Given the description of an element on the screen output the (x, y) to click on. 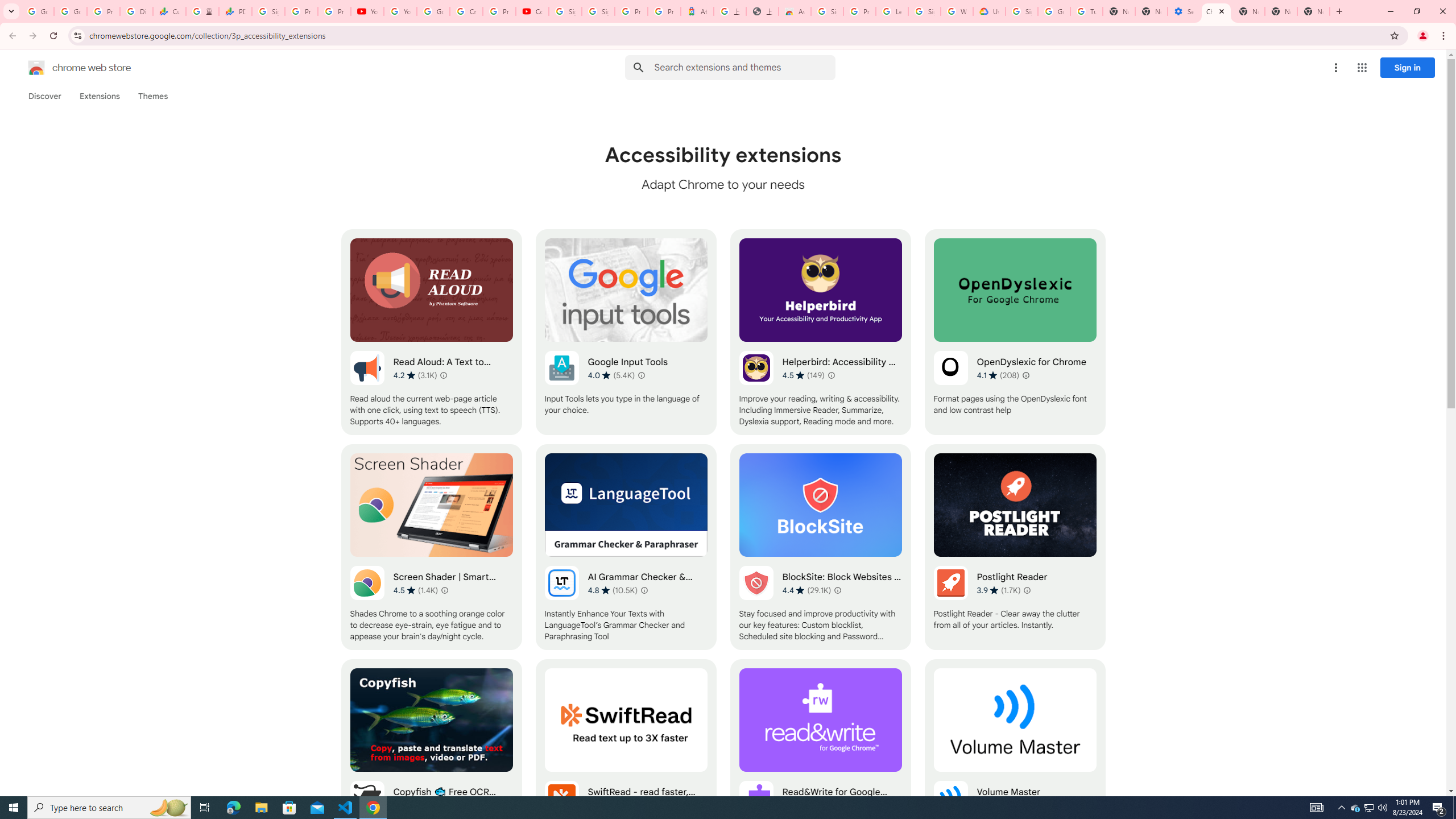
Currencies - Google Finance (169, 11)
Average rating 4.2 out of 5 stars. 3.1K ratings. (414, 375)
Settings - Accessibility (1183, 11)
Average rating 4.5 out of 5 stars. 149 ratings. (803, 375)
Extensions (99, 95)
Create your Google Account (465, 11)
Who are Google's partners? - Privacy and conditions - Google (957, 11)
Learn more about results and reviews "Postlight Reader" (1026, 590)
Content Creator Programs & Opportunities - YouTube Creators (532, 11)
Helperbird: Accessibility & Productivity App (820, 331)
Average rating 4.4 out of 5 stars. 29.1K ratings. (806, 590)
Google Input Tools (625, 331)
